Given the description of an element on the screen output the (x, y) to click on. 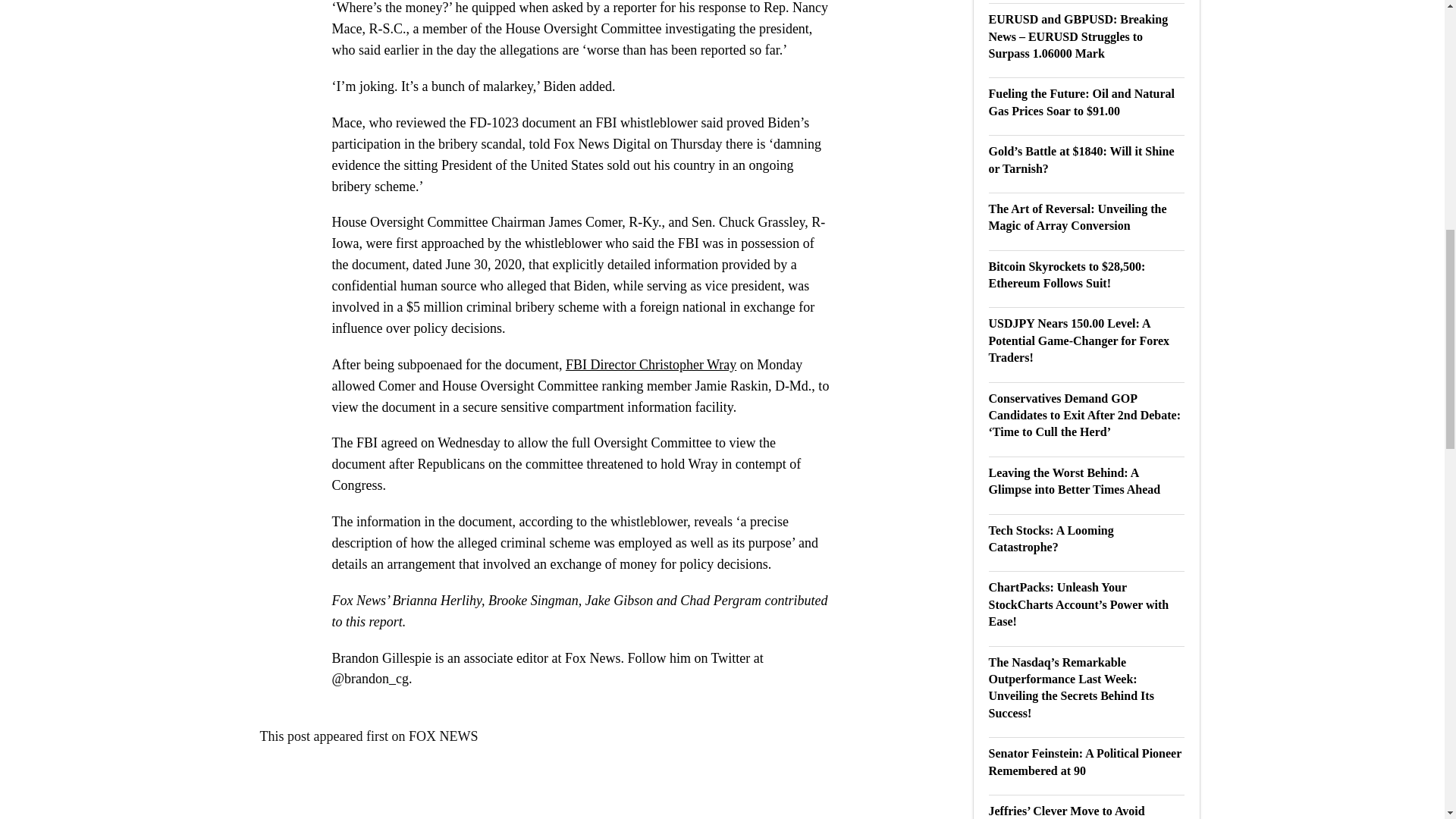
The Art of Reversal: Unveiling the Magic of Array Conversion (1077, 216)
